Given the description of an element on the screen output the (x, y) to click on. 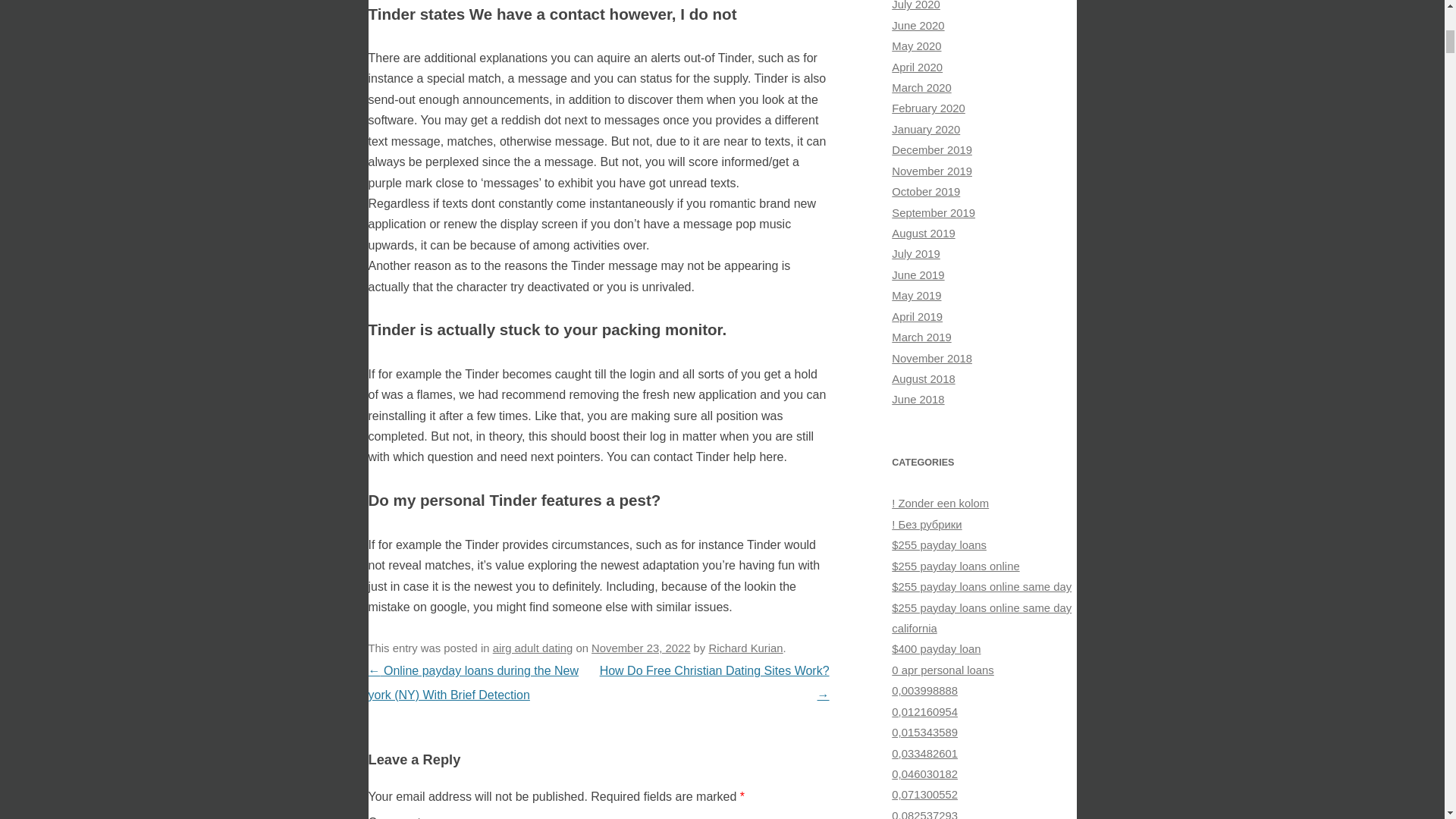
View all posts by Richard Kurian (745, 648)
2:43 am (640, 648)
November 23, 2022 (640, 648)
airg adult dating (533, 648)
Richard Kurian (745, 648)
